Given the description of an element on the screen output the (x, y) to click on. 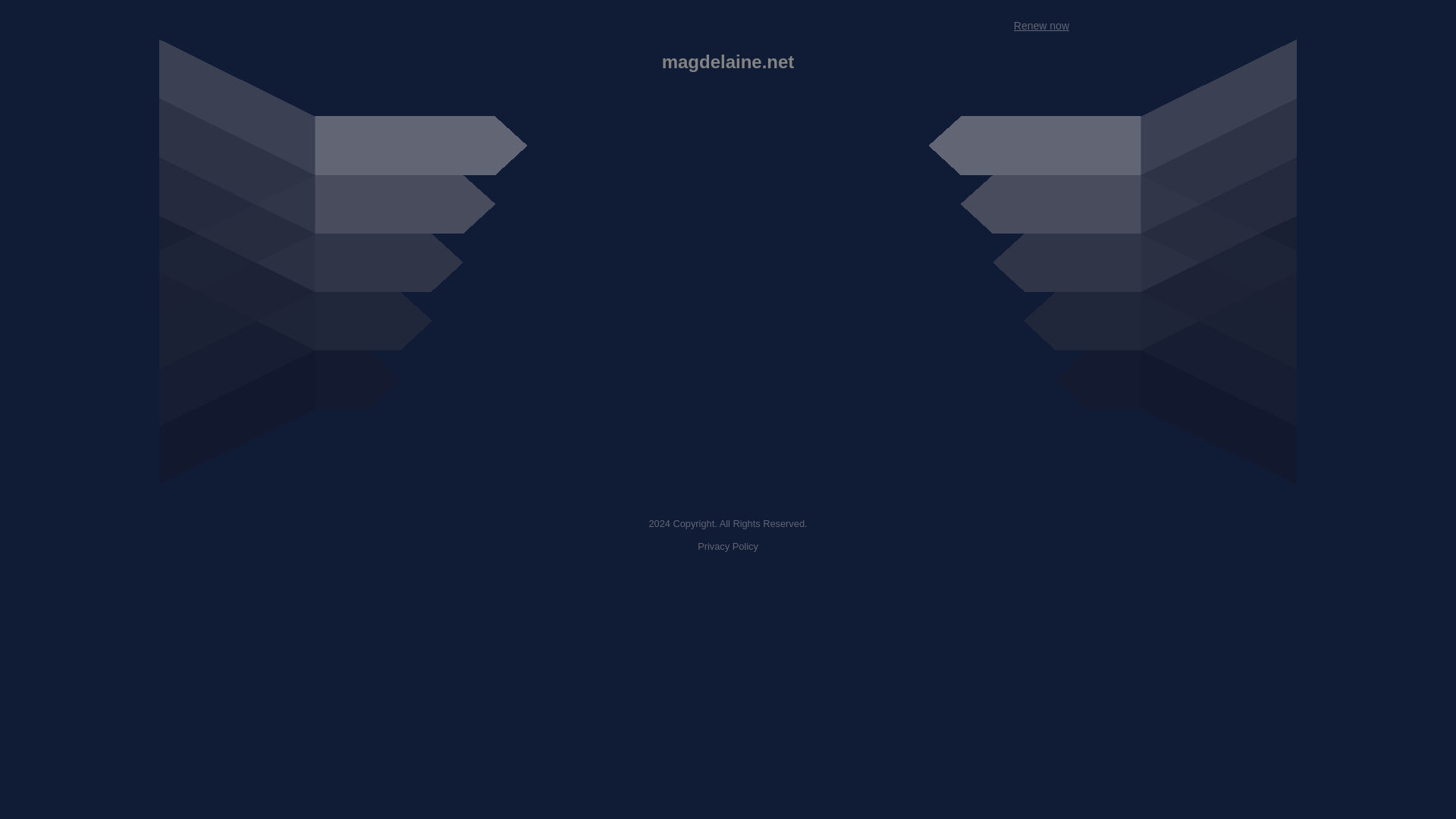
Privacy Policy (727, 546)
Renew now (1040, 25)
